Given the description of an element on the screen output the (x, y) to click on. 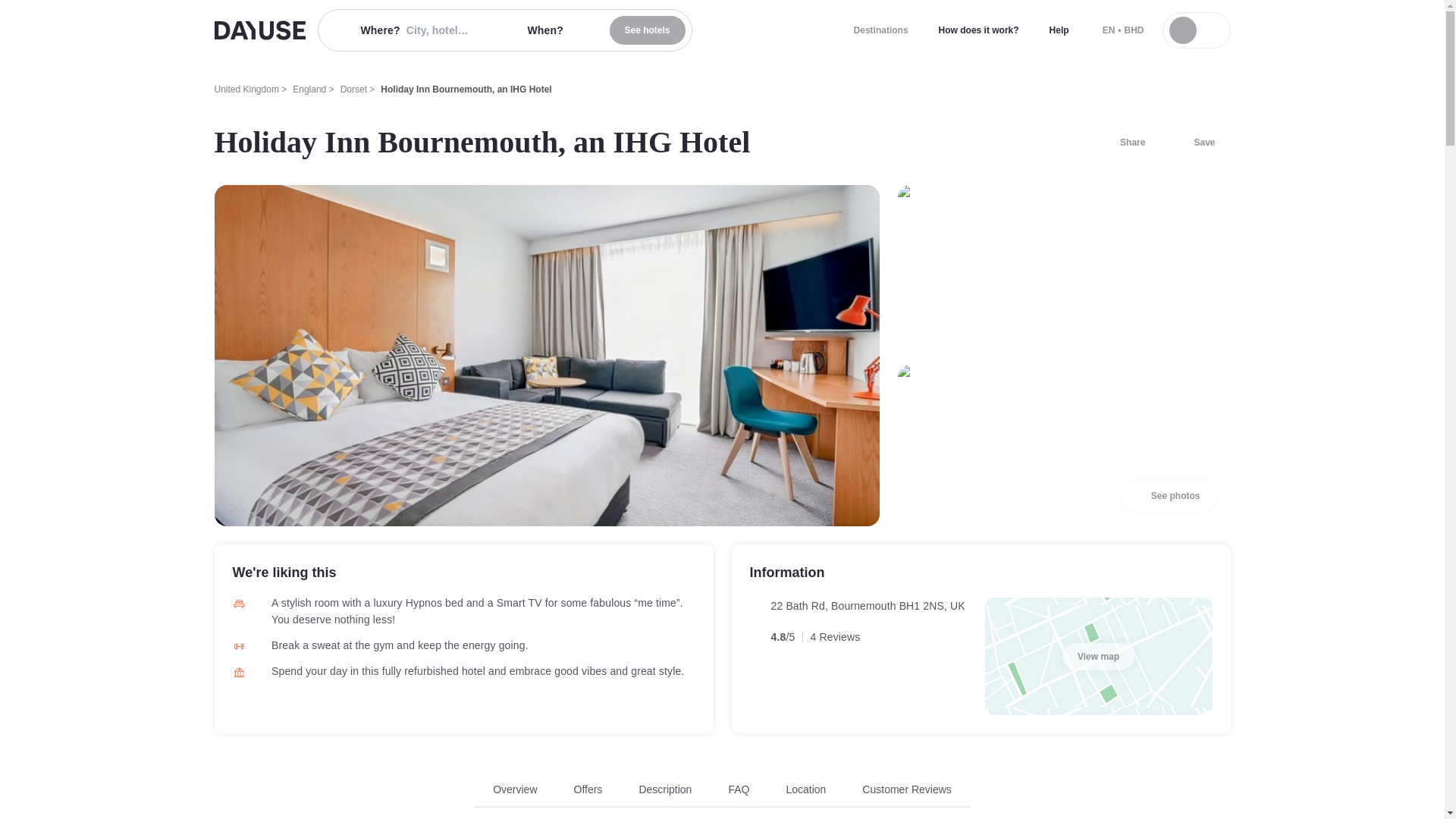
Destinations (880, 30)
See hotels (647, 30)
Share (1123, 142)
Customer Reviews (905, 789)
Help (1058, 30)
Description (665, 789)
See photos (721, 794)
Offers (1168, 495)
View map (587, 789)
